Given the description of an element on the screen output the (x, y) to click on. 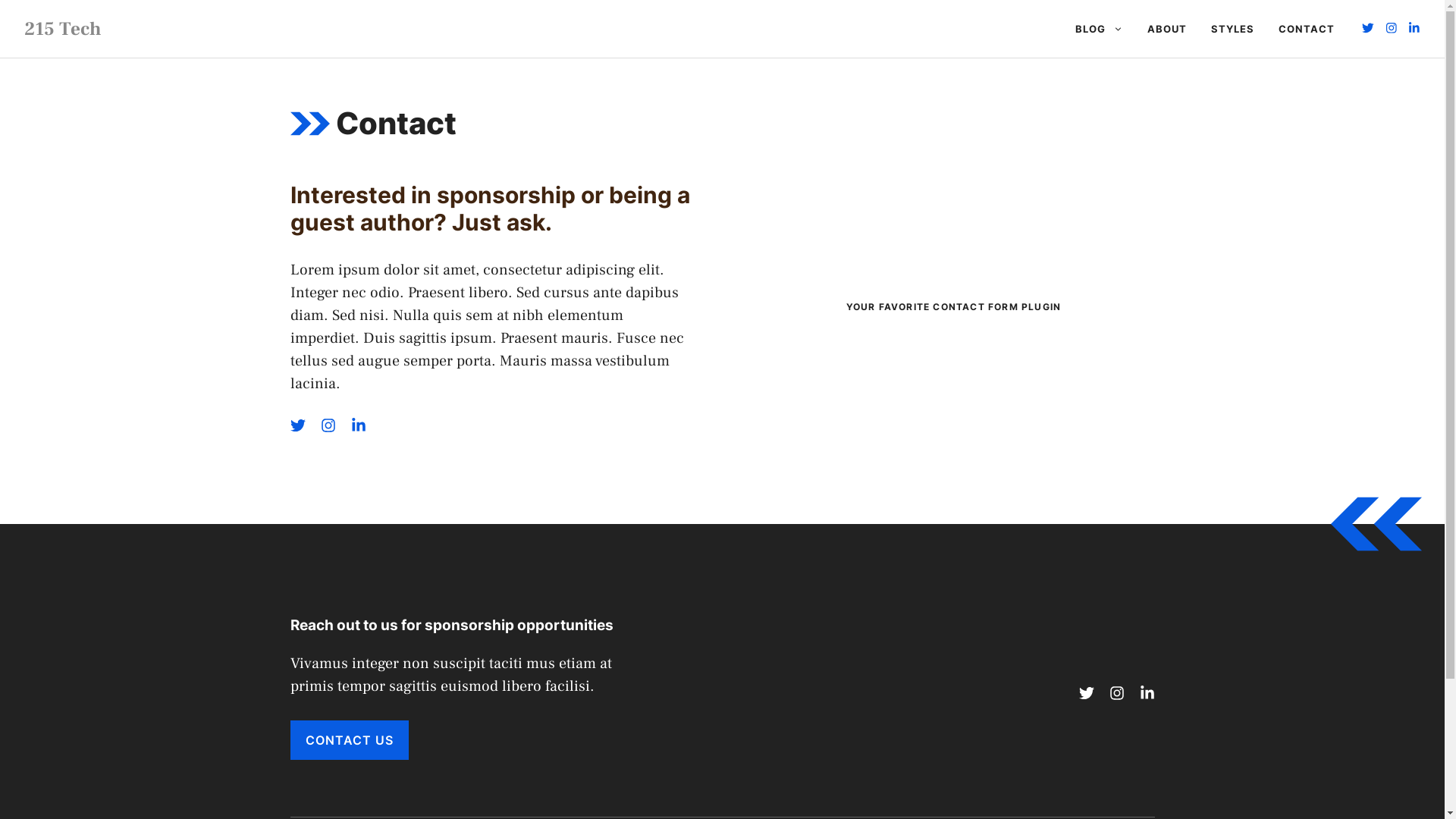
STYLES Element type: text (1232, 28)
ABOUT Element type: text (1166, 28)
BLOG Element type: text (1099, 28)
215 Tech Element type: text (62, 28)
CONTACT Element type: text (1306, 28)
CONTACT US Element type: text (348, 739)
